Given the description of an element on the screen output the (x, y) to click on. 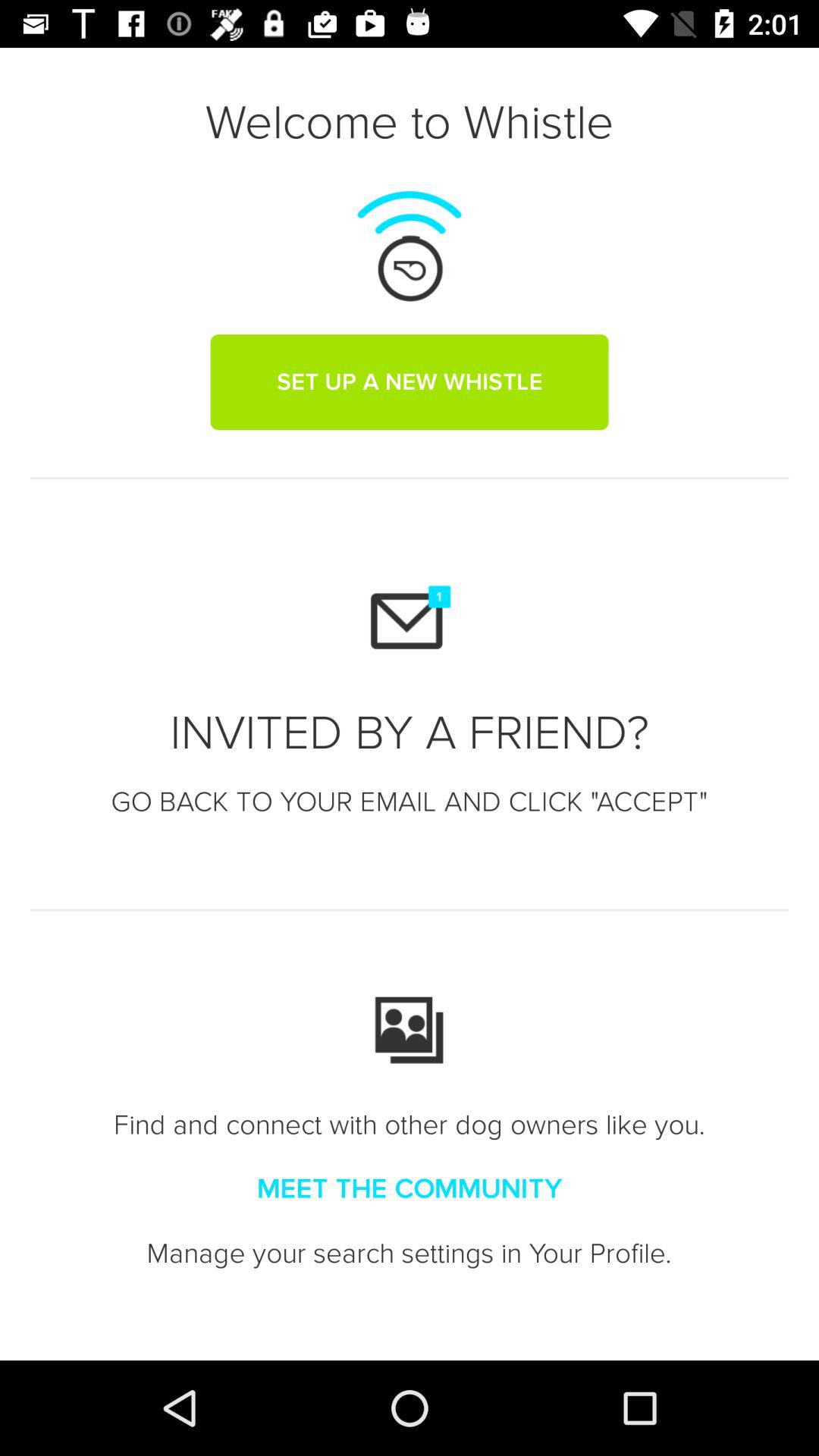
turn off the icon above the manage your search icon (409, 1189)
